Given the description of an element on the screen output the (x, y) to click on. 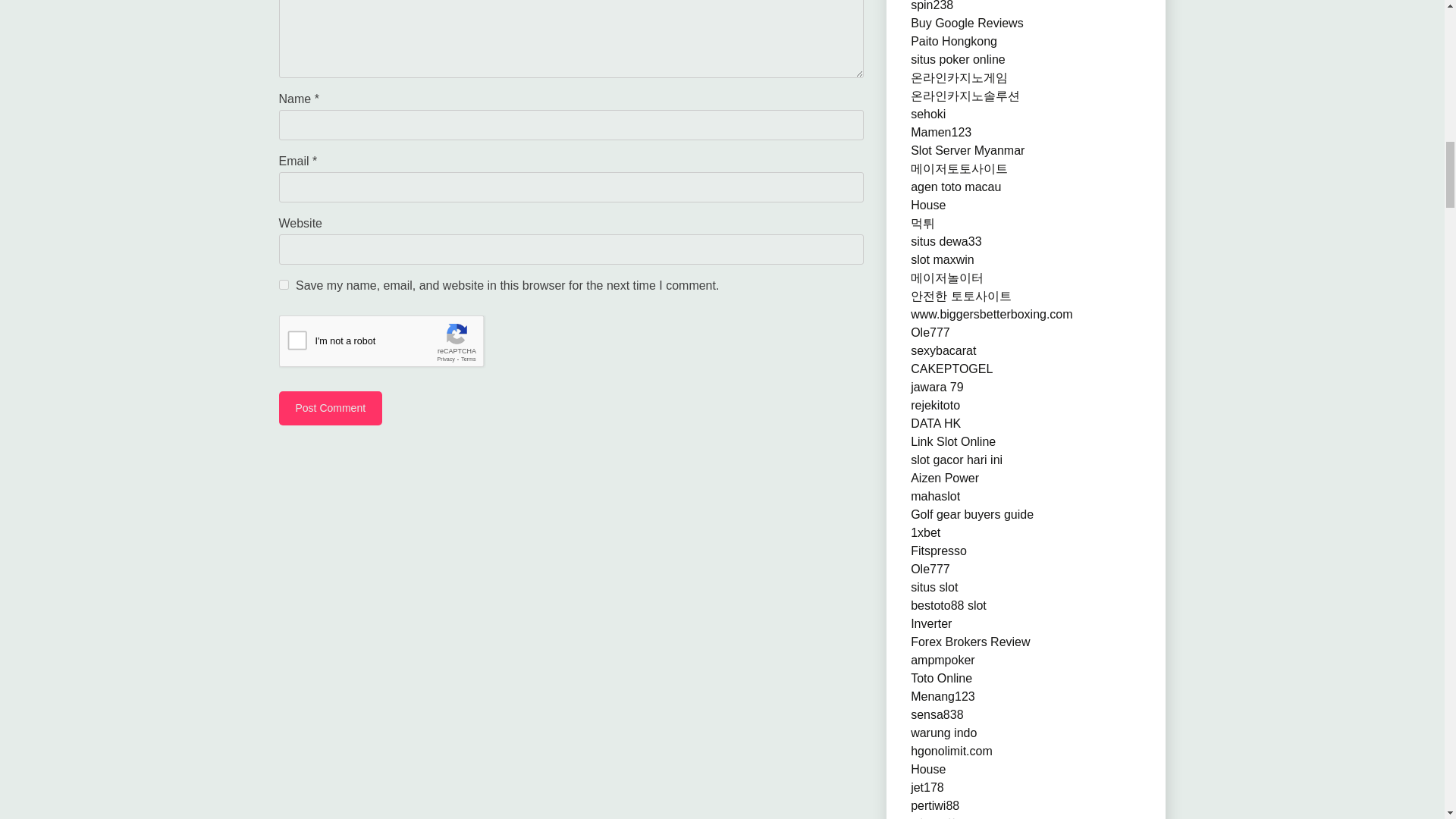
reCAPTCHA (394, 344)
Post Comment (330, 408)
1xbet (925, 532)
yes (283, 284)
Post Comment (330, 408)
